Given the description of an element on the screen output the (x, y) to click on. 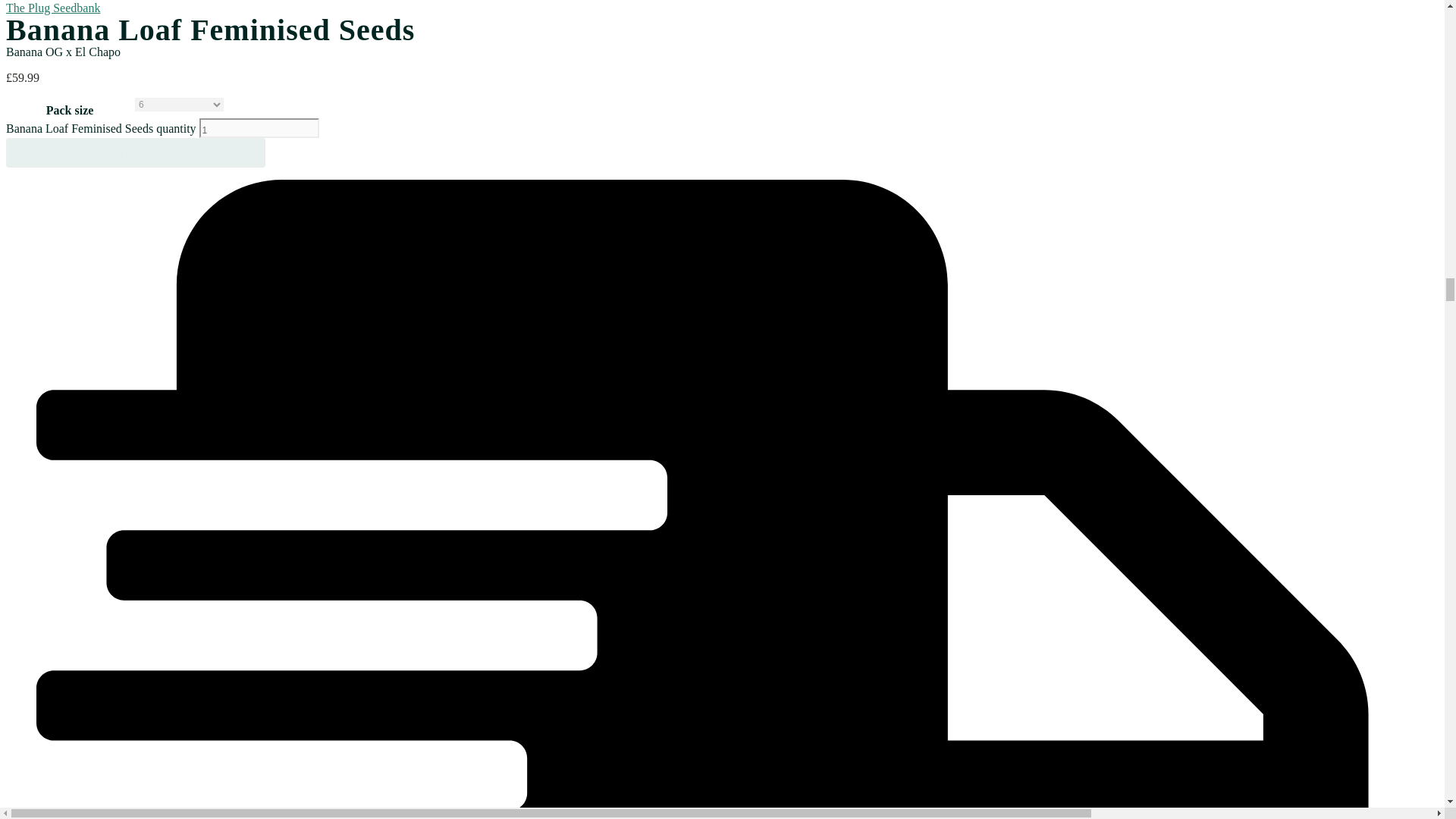
1 (258, 127)
